Given the description of an element on the screen output the (x, y) to click on. 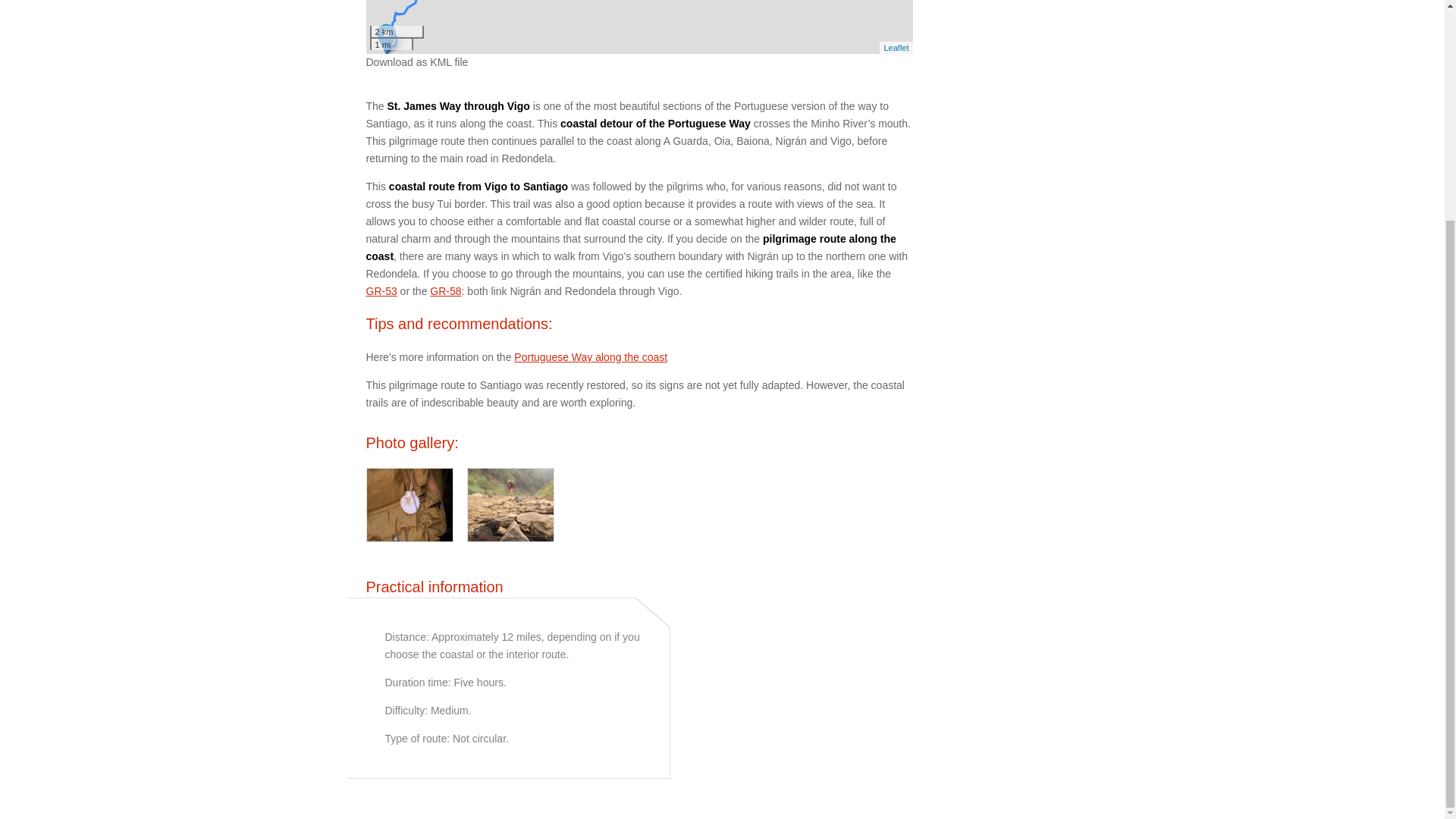
A JS library for interactive maps (895, 46)
